Given the description of an element on the screen output the (x, y) to click on. 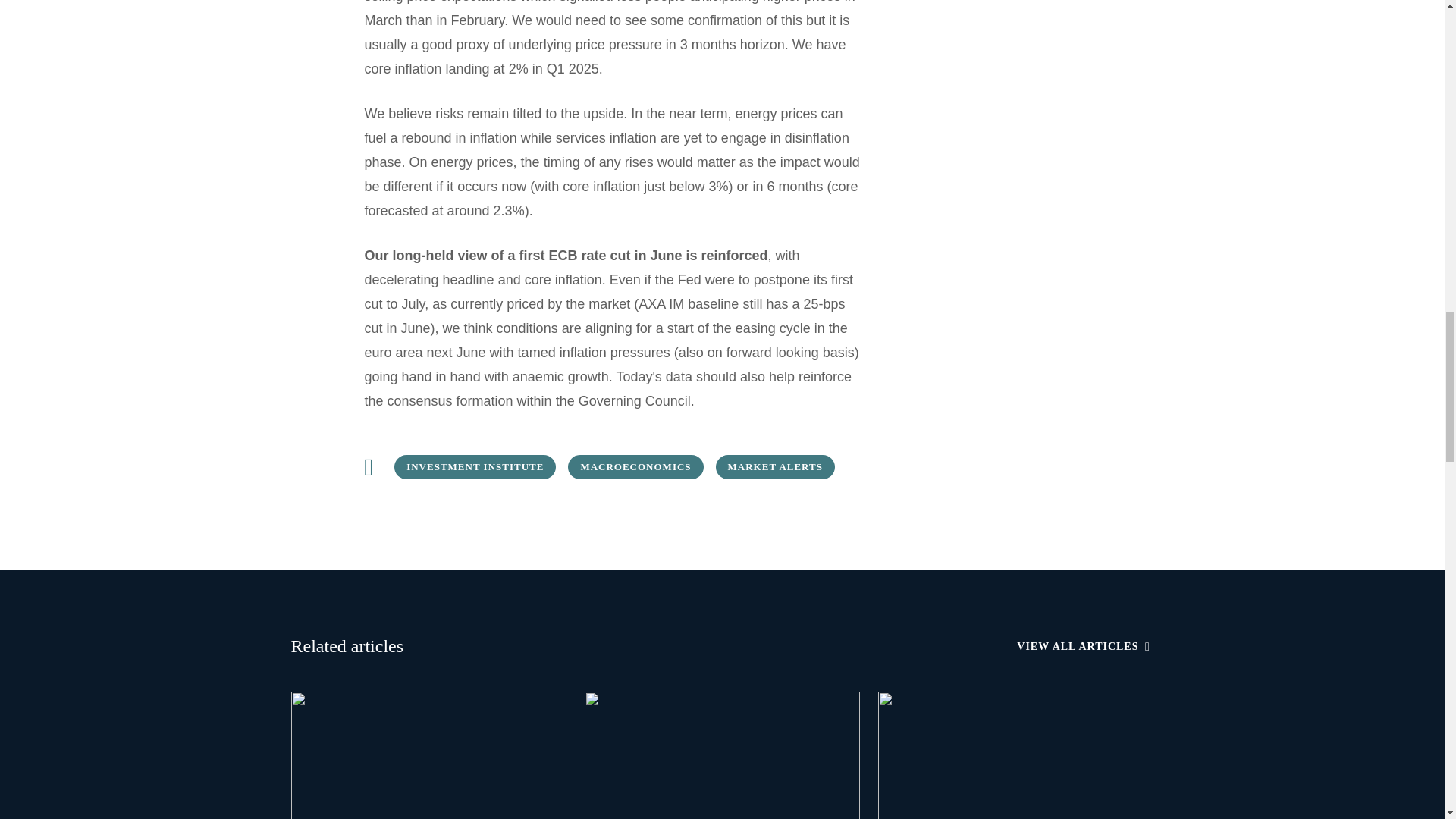
View all articles (1084, 645)
Explore Investment Institute insights (475, 467)
Explore Market Alerts insights (775, 467)
Explore Macroeconomics insights (635, 467)
